Given the description of an element on the screen output the (x, y) to click on. 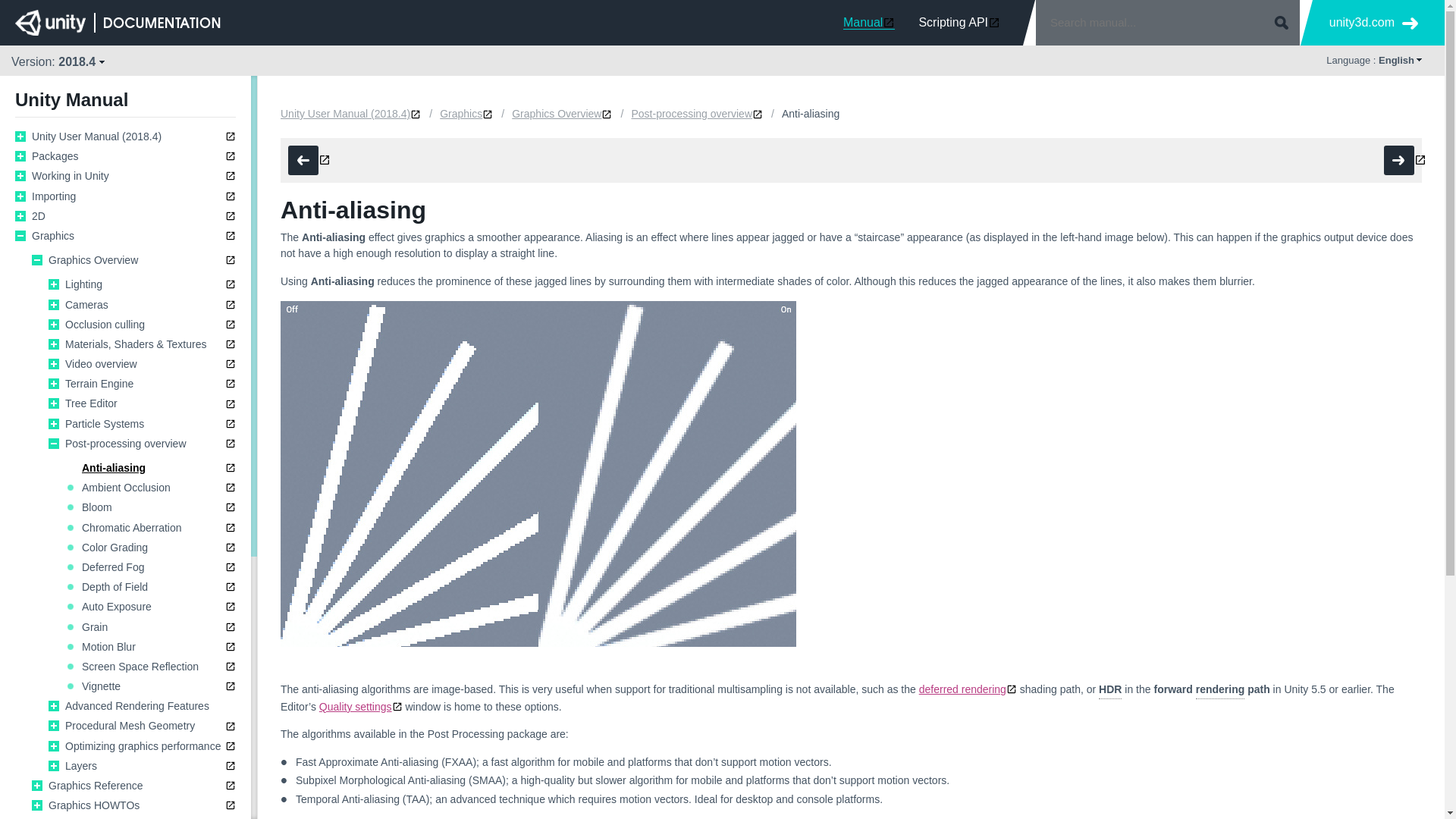
Manual (869, 22)
Scripting API (959, 22)
unity3d.com (1373, 22)
